Given the description of an element on the screen output the (x, y) to click on. 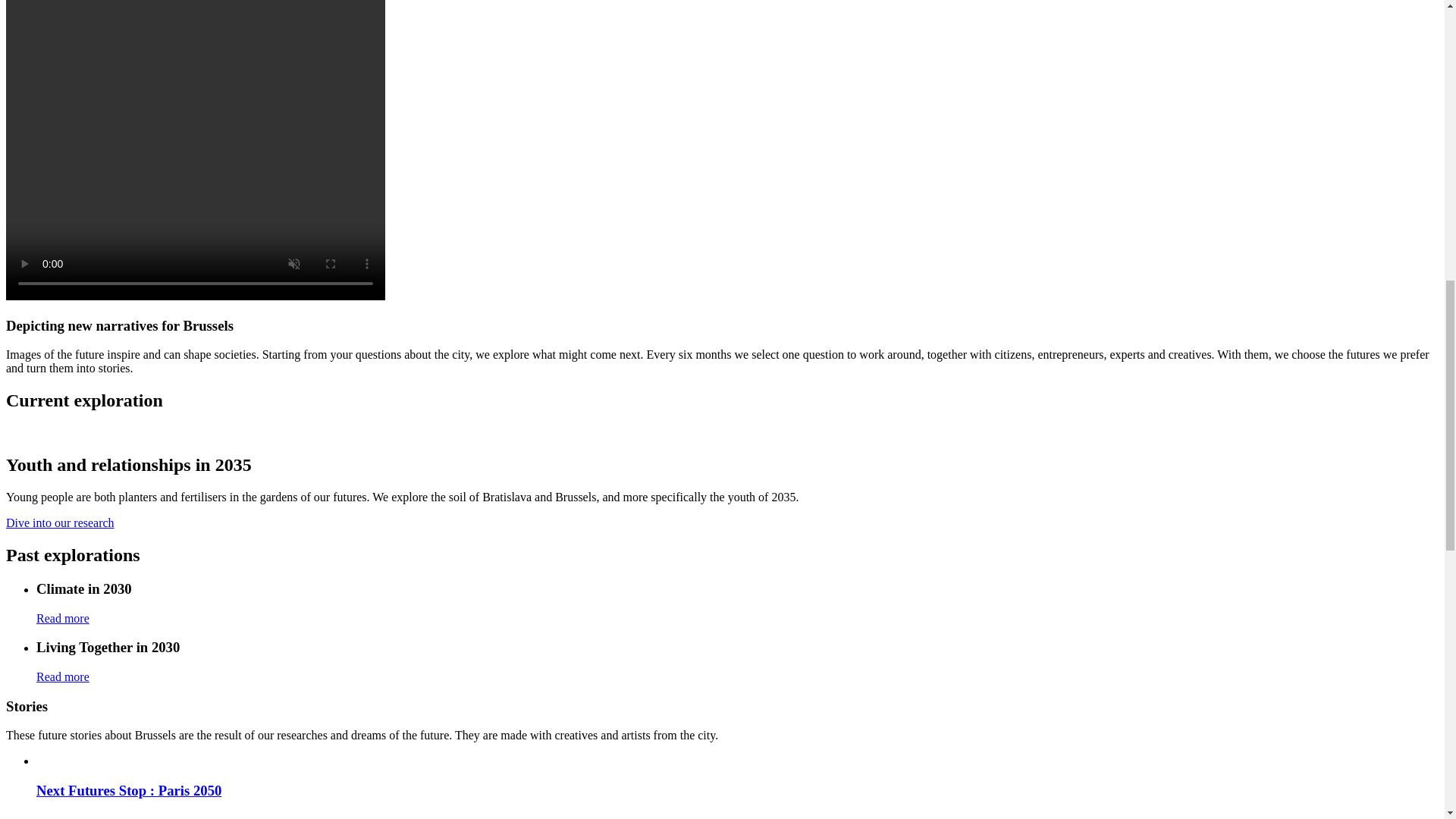
Read more (62, 676)
Dive into our research (60, 522)
Read more (62, 617)
